Given the description of an element on the screen output the (x, y) to click on. 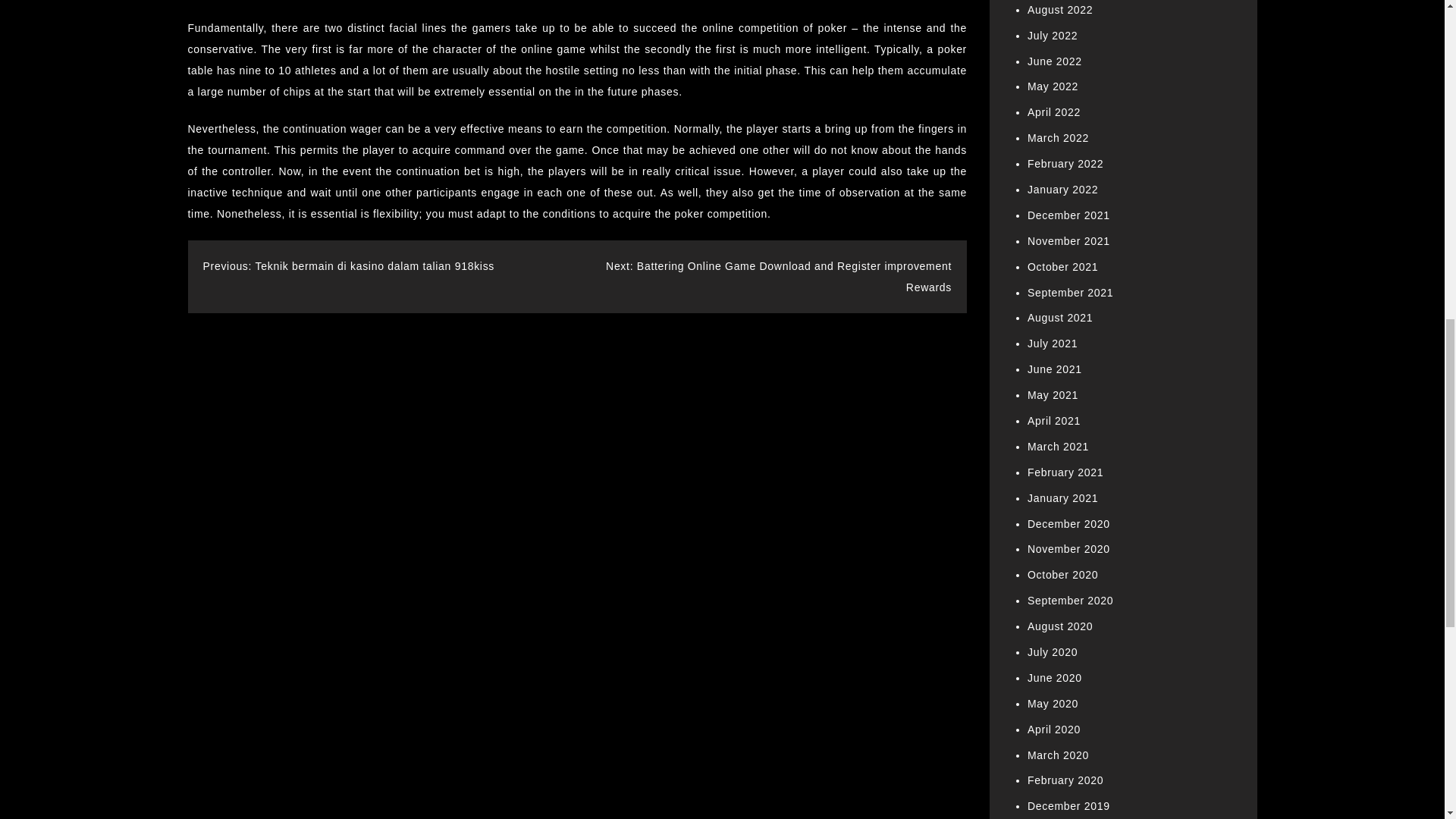
August 2022 (1060, 9)
November 2021 (1068, 241)
February 2022 (1065, 163)
April 2022 (1053, 111)
December 2021 (1068, 215)
September 2021 (1070, 292)
May 2022 (1052, 86)
Previous: Teknik bermain di kasino dalam talian 918kiss (349, 265)
July 2022 (1052, 35)
June 2022 (1054, 60)
October 2021 (1062, 266)
January 2022 (1062, 189)
August 2021 (1060, 317)
March 2022 (1058, 137)
